Given the description of an element on the screen output the (x, y) to click on. 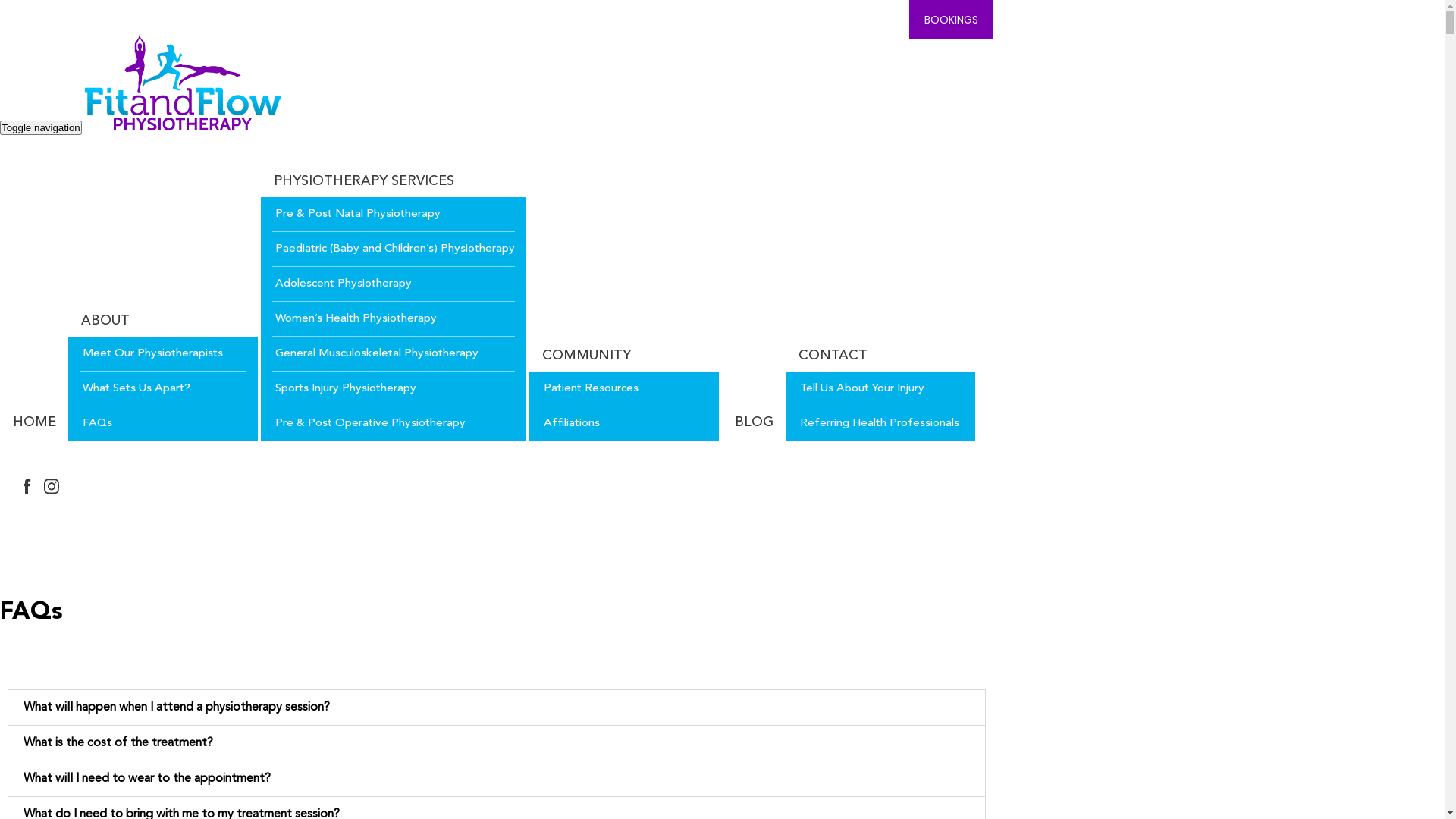
What is the cost of the treatment? Element type: text (118, 743)
What will happen when I attend a physiotherapy session? Element type: text (176, 707)
 General Musculoskeletal Physiotherapy Element type: text (393, 353)
 Affiliations Element type: text (623, 423)
Fit and Flow Physiotherapy Facebook Element type: hover (27, 486)
 Adolescent Physiotherapy Element type: text (393, 283)
 PHYSIOTHERAPY SERVICES Element type: text (361, 181)
 Meet Our Physiotherapists Element type: text (162, 353)
Toggle navigation Element type: text (40, 127)
 COMMUNITY Element type: text (584, 355)
 Tell Us About Your Injury Element type: text (880, 388)
 What Sets Us Apart? Element type: text (162, 388)
 BLOG Element type: text (751, 422)
 Sports Injury Physiotherapy Element type: text (393, 388)
 Referring Health Professionals Element type: text (880, 423)
Fit and Flow Physiotherapy Instagram Element type: hover (51, 486)
 ABOUT Element type: text (103, 320)
 Pre & Post Natal Physiotherapy Element type: text (393, 214)
 Pre & Post Operative Physiotherapy Element type: text (393, 423)
What will I need to wear to the appointment? Element type: text (146, 778)
 FAQs Element type: text (162, 423)
BOOKINGS Element type: text (951, 19)
 HOME Element type: text (32, 422)
 Patient Resources Element type: text (623, 388)
 CONTACT Element type: text (830, 355)
